Given the description of an element on the screen output the (x, y) to click on. 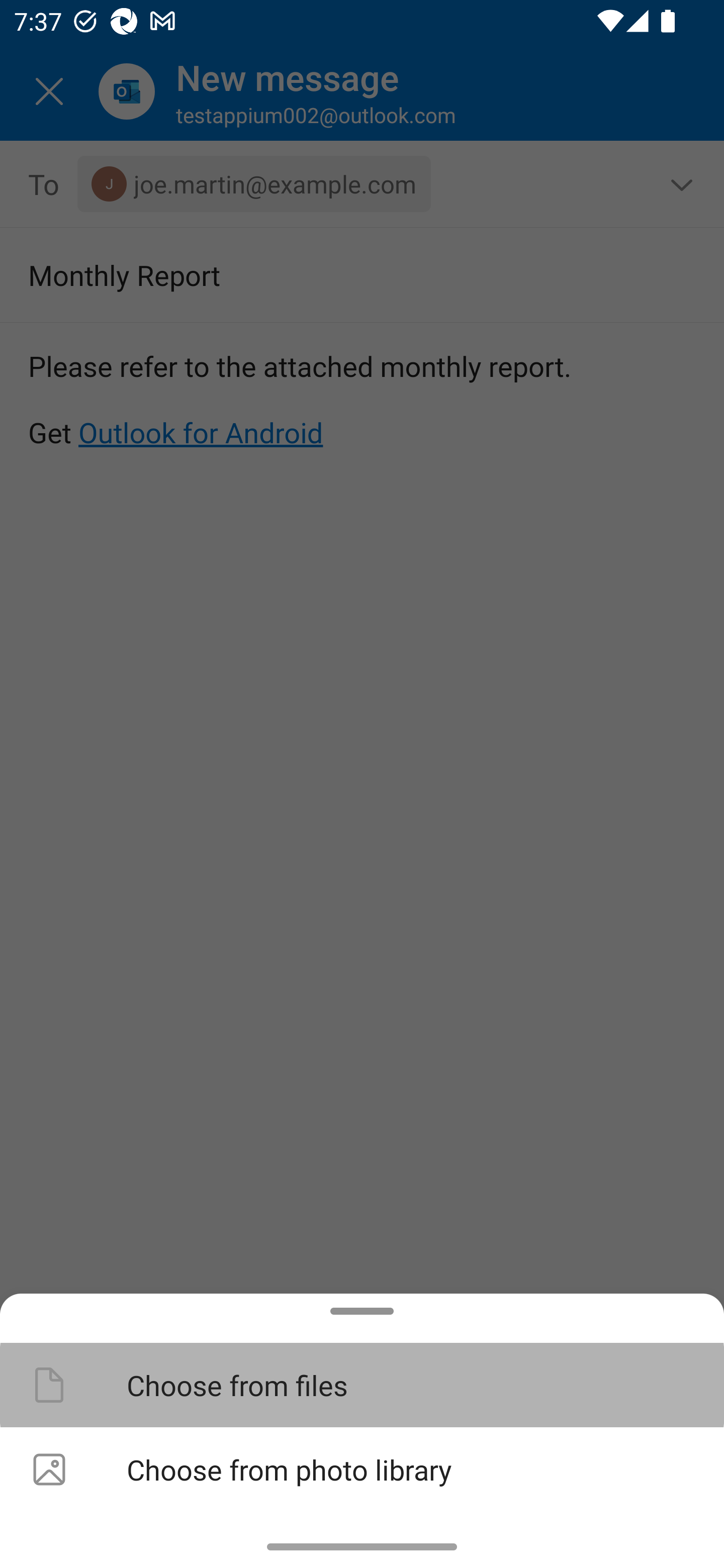
Choose from files (362, 1384)
Choose from photo library (362, 1468)
